Given the description of an element on the screen output the (x, y) to click on. 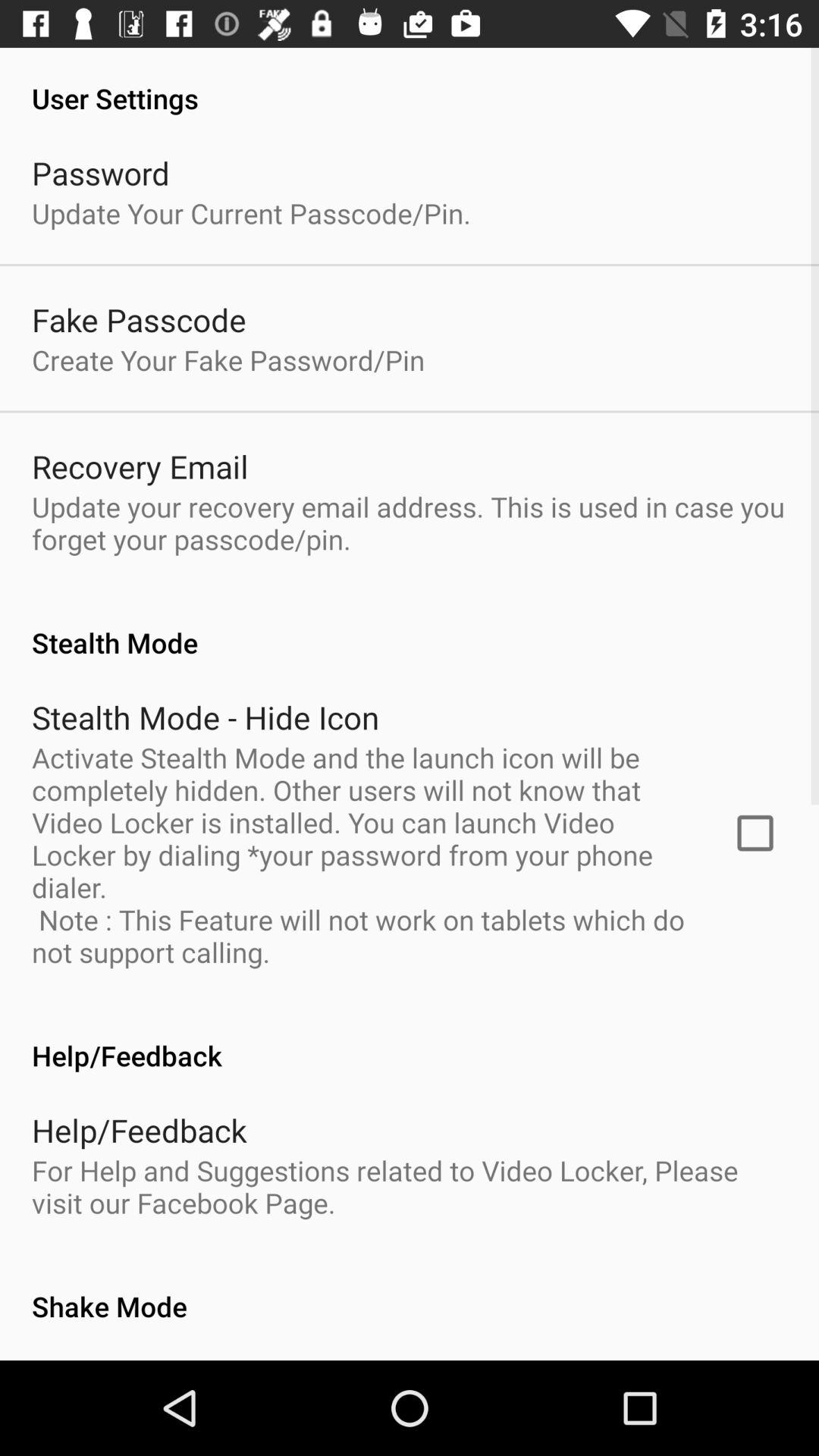
select the icon on the right (755, 833)
